Given the description of an element on the screen output the (x, y) to click on. 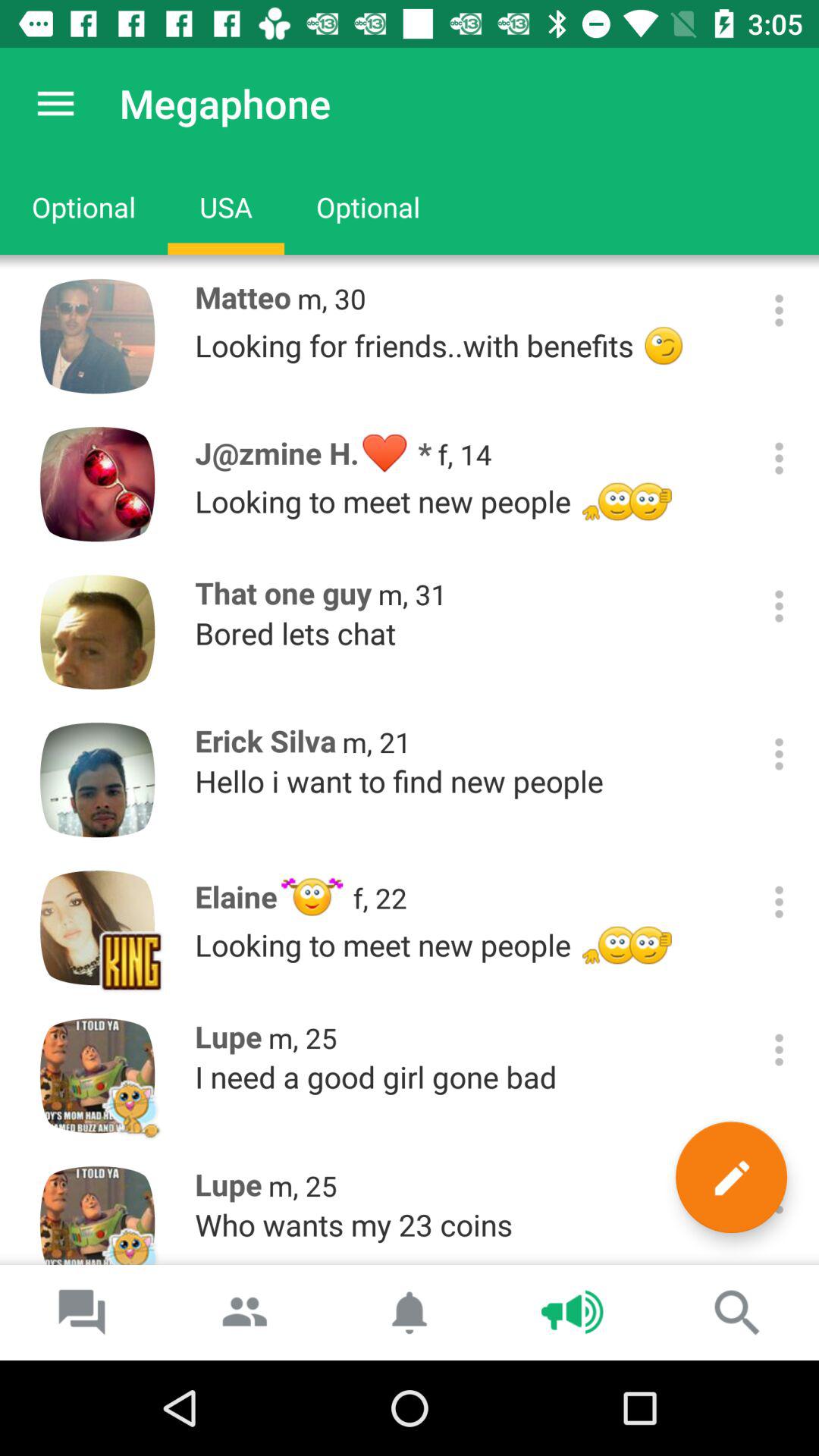
writing icon (731, 1177)
